Given the description of an element on the screen output the (x, y) to click on. 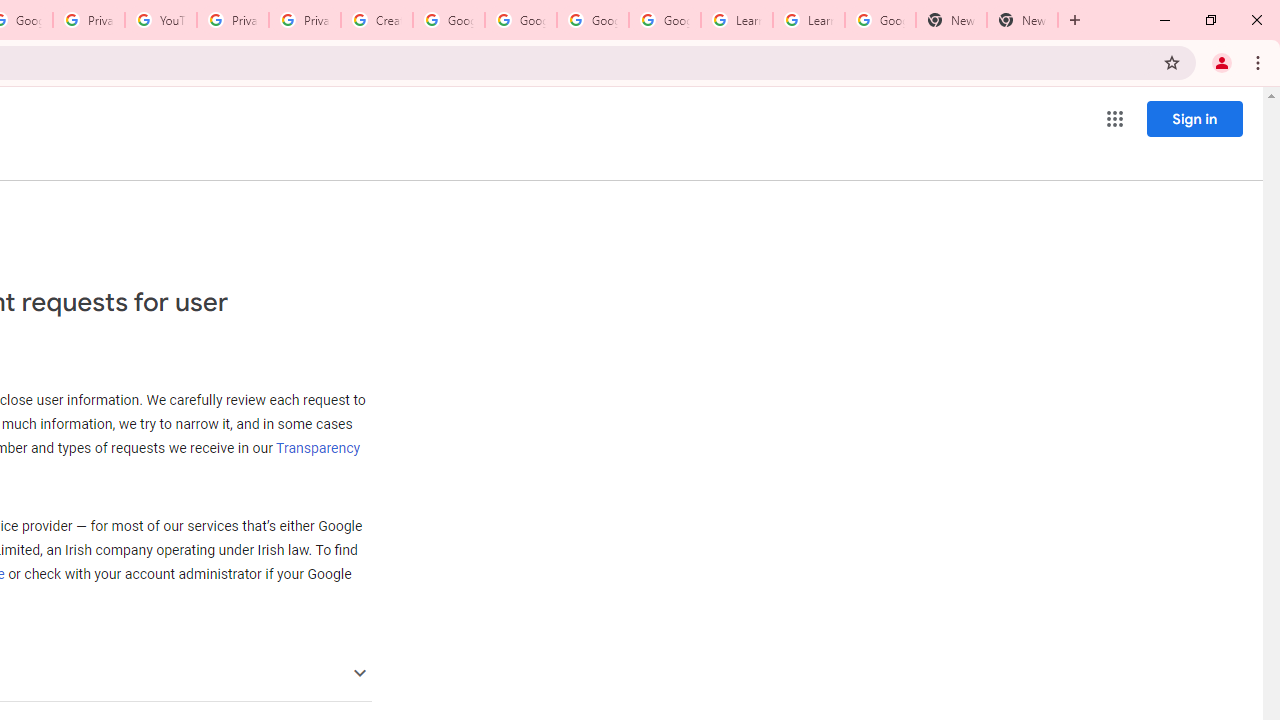
Google Account Help (520, 20)
New Tab (951, 20)
New Tab (1022, 20)
Google Account Help (664, 20)
Google Account (880, 20)
Google Account Help (449, 20)
